Given the description of an element on the screen output the (x, y) to click on. 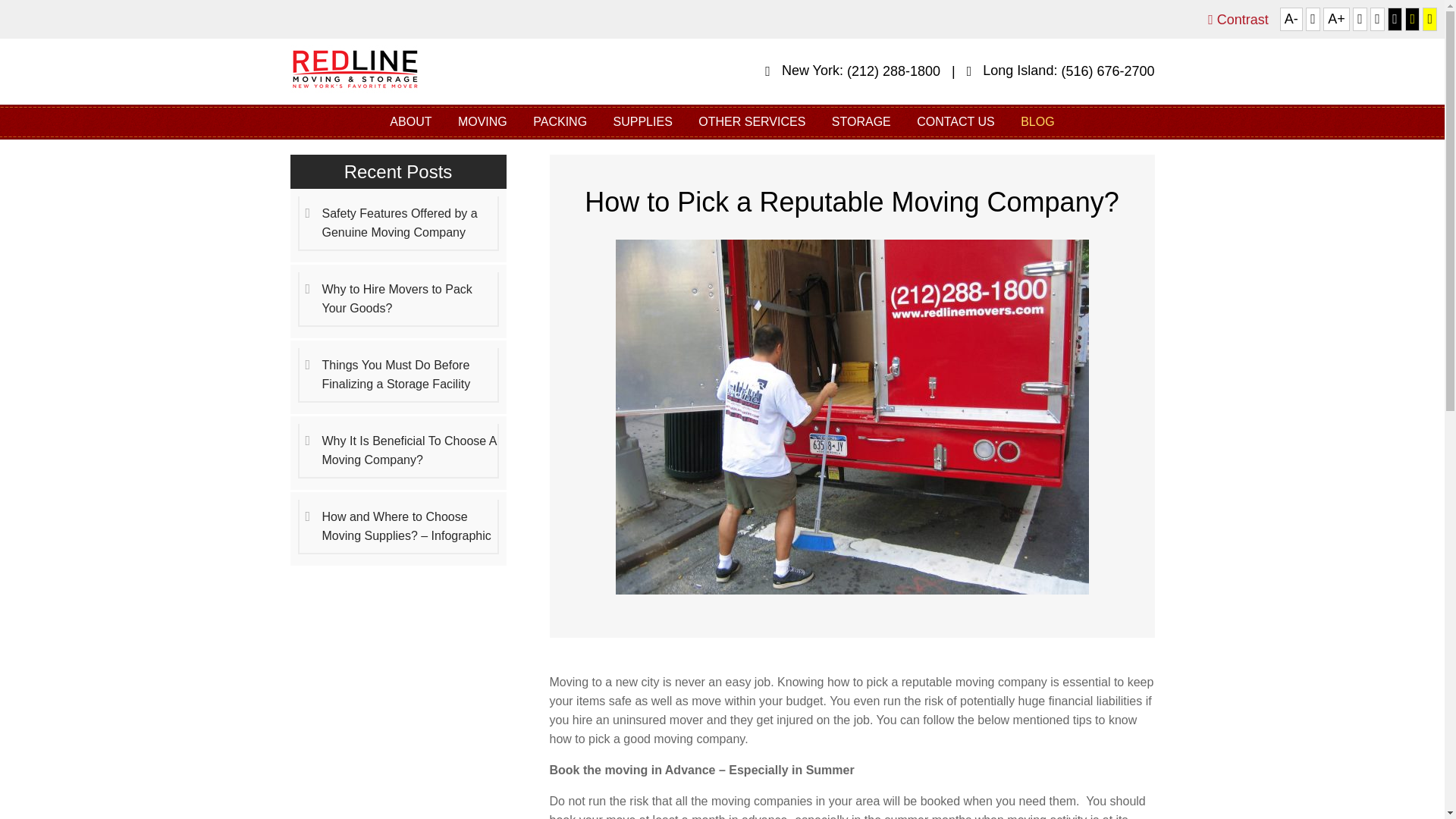
Long Island phone number (1107, 71)
Permanent link to Why to Hire Movers to Pack Your Goods? (397, 298)
CONTACT US (955, 121)
ABOUT (410, 121)
OTHER SERVICES (751, 121)
New York phone number (893, 71)
SUPPLIES (643, 121)
MOVING (482, 121)
